Given the description of an element on the screen output the (x, y) to click on. 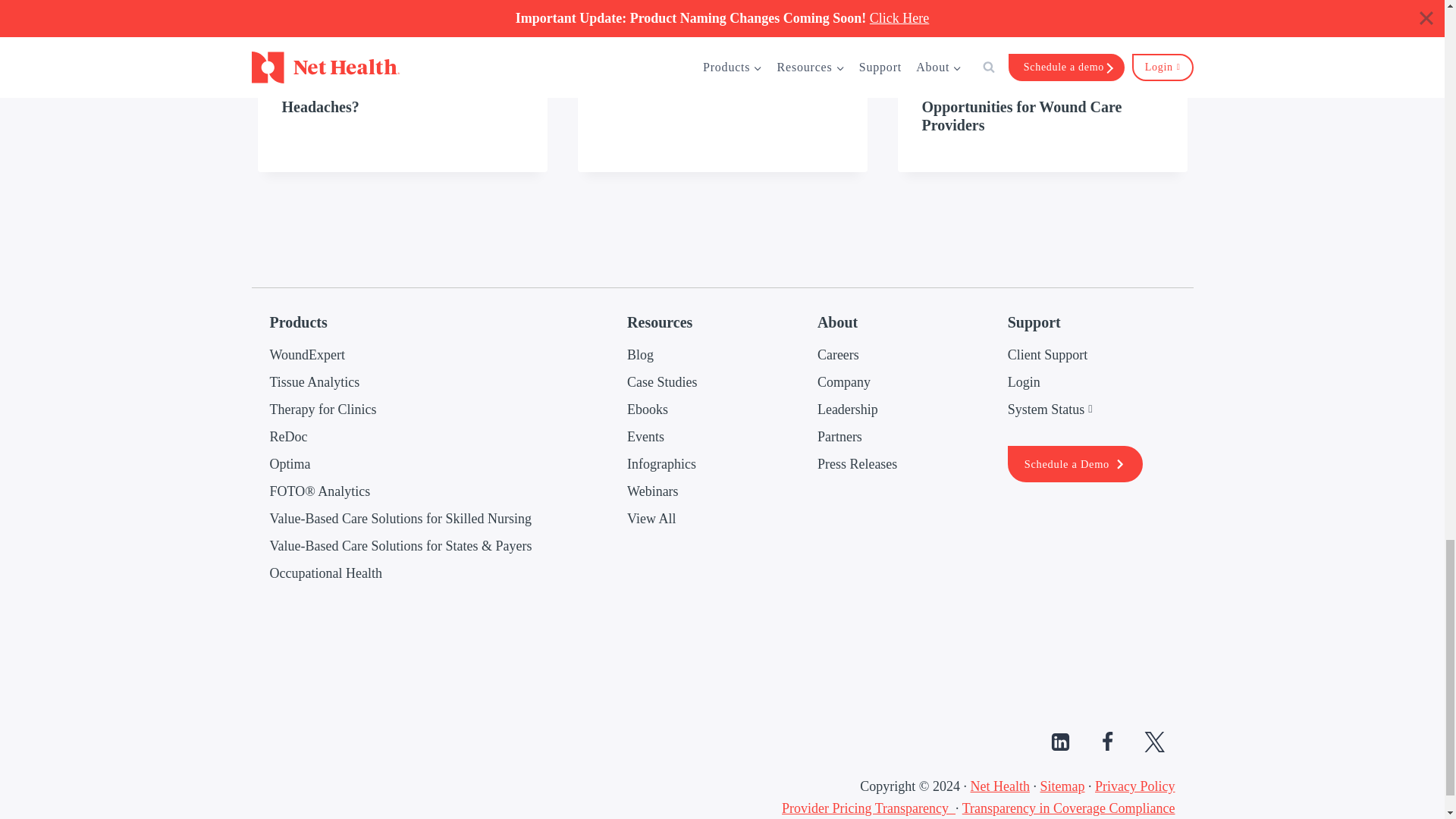
Net Health logo (1144, 643)
